Given the description of an element on the screen output the (x, y) to click on. 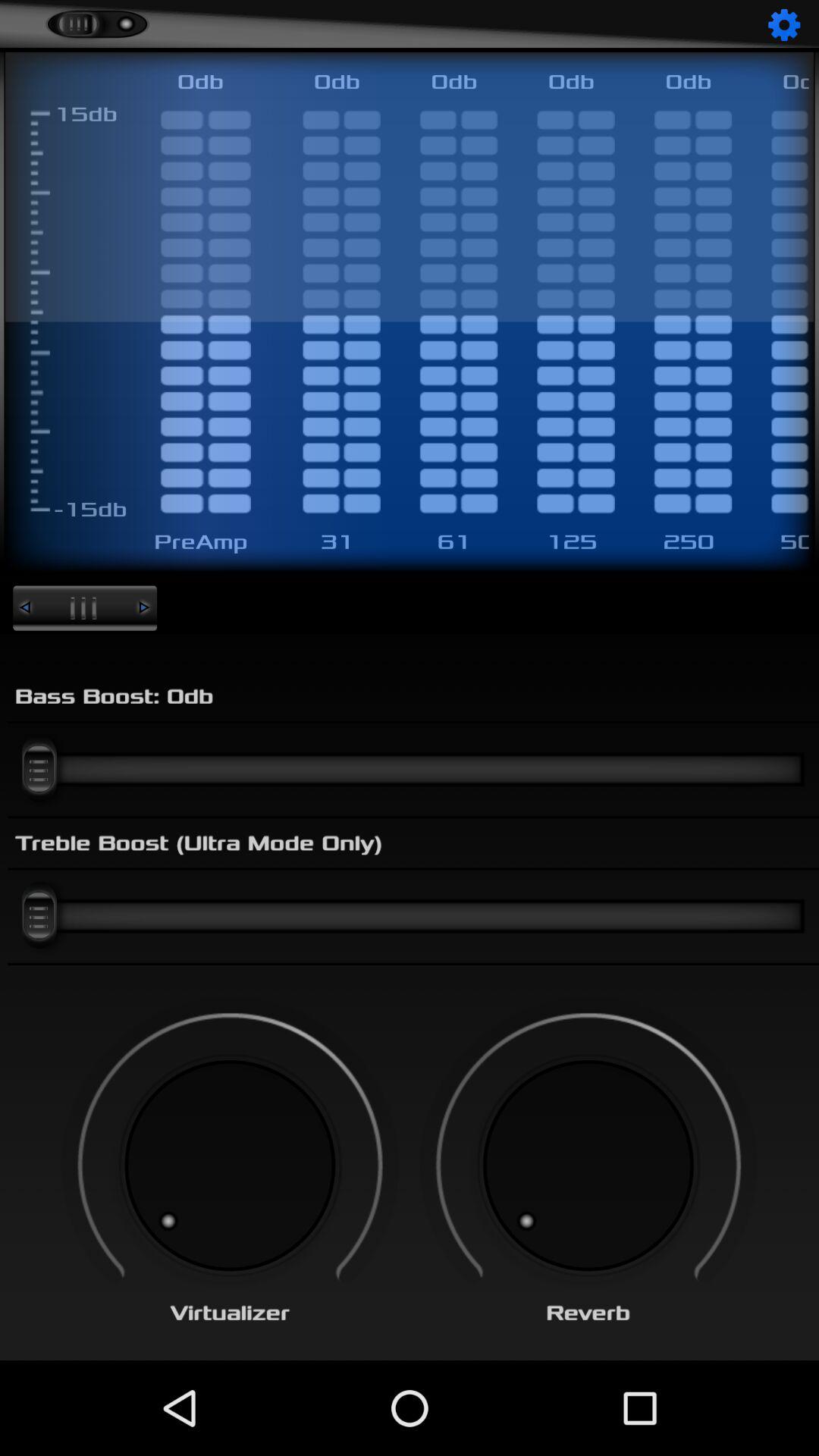
reverb (587, 1165)
